Given the description of an element on the screen output the (x, y) to click on. 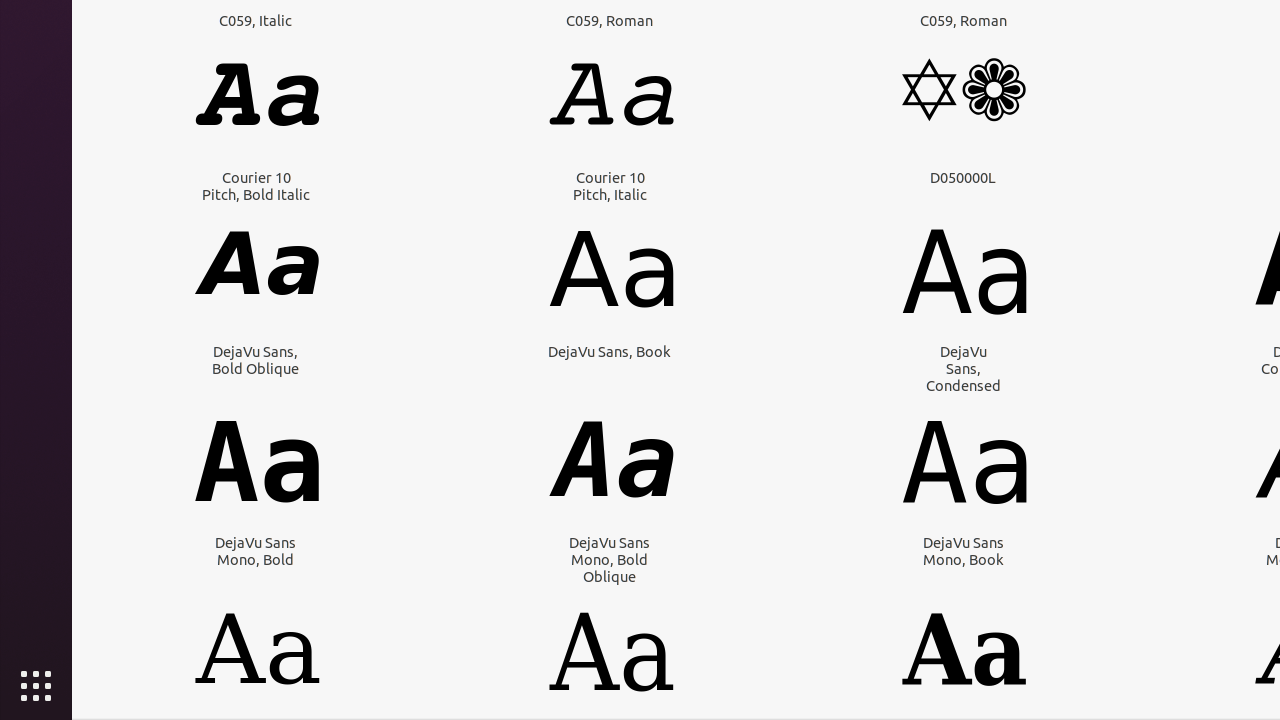
Courier 10 Pitch, Italic Element type: label (610, 186)
DejaVu Sans Mono, Bold Element type: label (255, 551)
C059, Roman Element type: label (609, 20)
DejaVu Sans, Bold Oblique Element type: label (255, 360)
DejaVu Sans Mono, Bold Oblique Element type: label (609, 559)
